Given the description of an element on the screen output the (x, y) to click on. 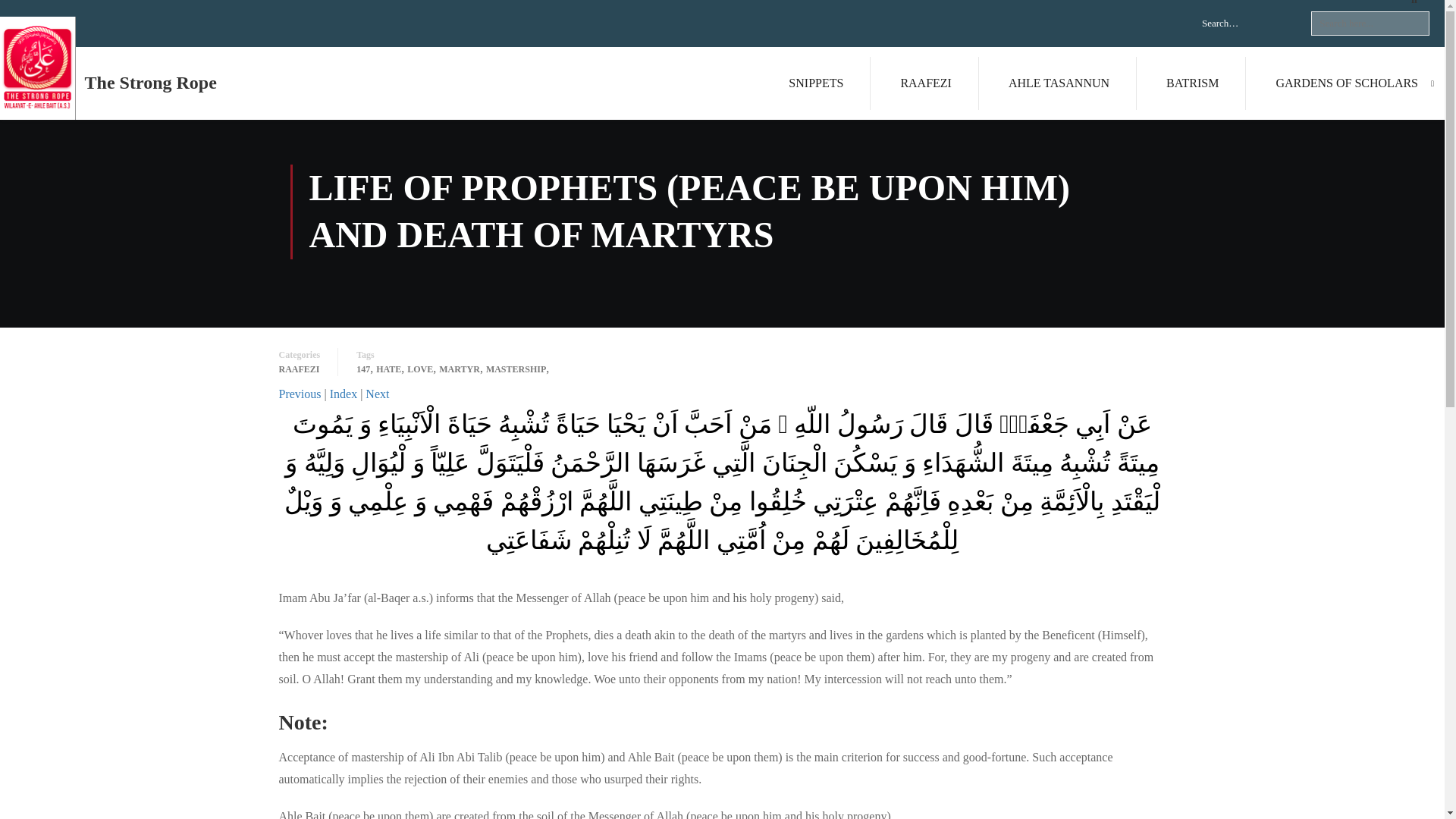
GARDENS OF SCHOLARS (1346, 82)
LOVE (419, 368)
Search (1410, 7)
Previous (300, 393)
HATE (388, 368)
MASTERSHIP (516, 368)
Index (343, 393)
MARTYR (459, 368)
Search (1410, 7)
RAAFEZI (299, 368)
